Given the description of an element on the screen output the (x, y) to click on. 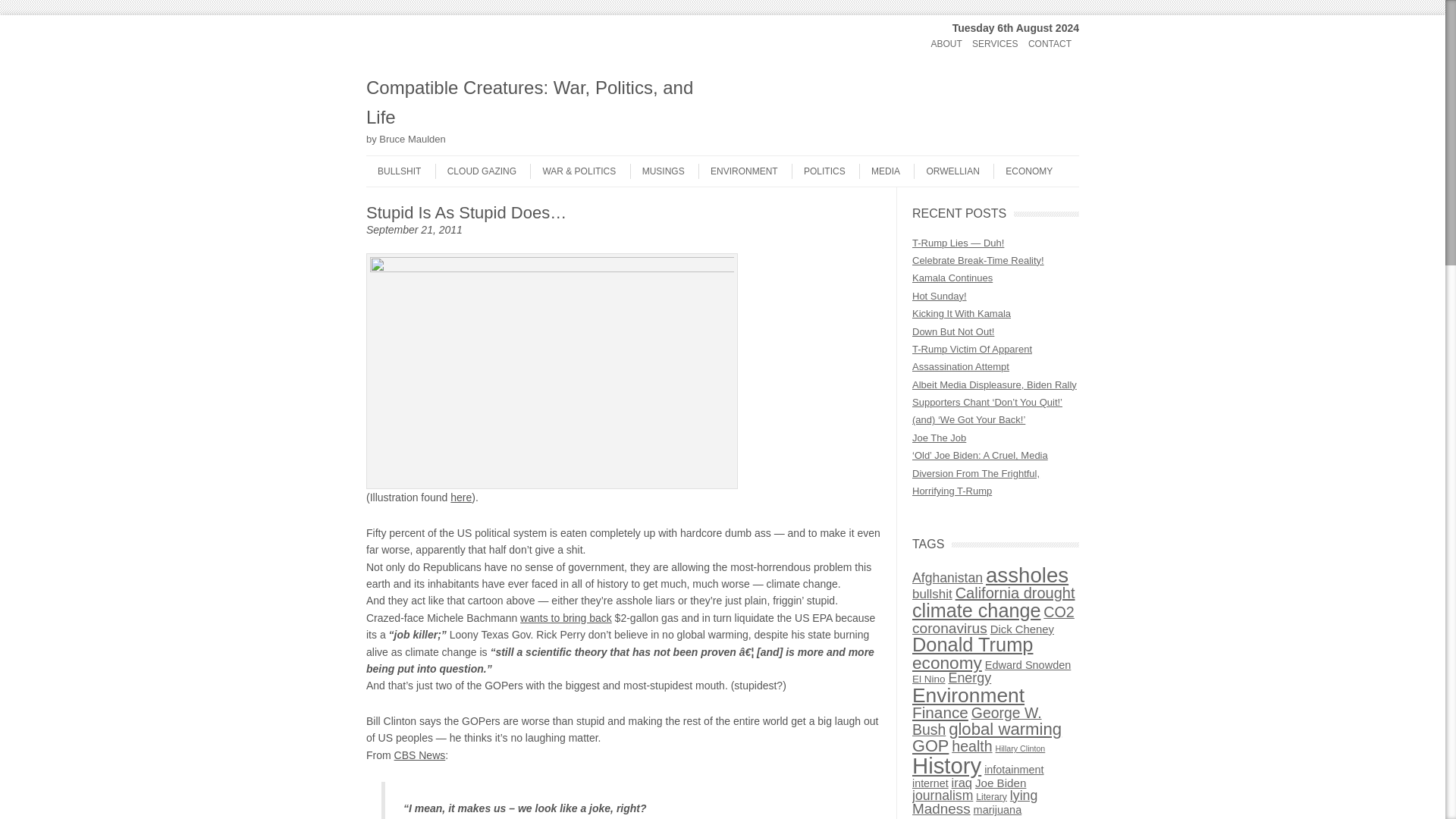
ECONOMY (1022, 171)
BULLSHIT (393, 171)
MUSINGS (657, 171)
here (460, 497)
CLOUD GAZING (475, 171)
Skip to content (396, 160)
CONTACT (1049, 43)
Compatible Creatures: War, Politics, and Life (540, 102)
stupid (552, 371)
CBS News (419, 755)
Skip to content (396, 37)
MEDIA (879, 171)
ORWELLIAN (946, 171)
SERVICES (994, 43)
Kamala Continues (952, 277)
